Given the description of an element on the screen output the (x, y) to click on. 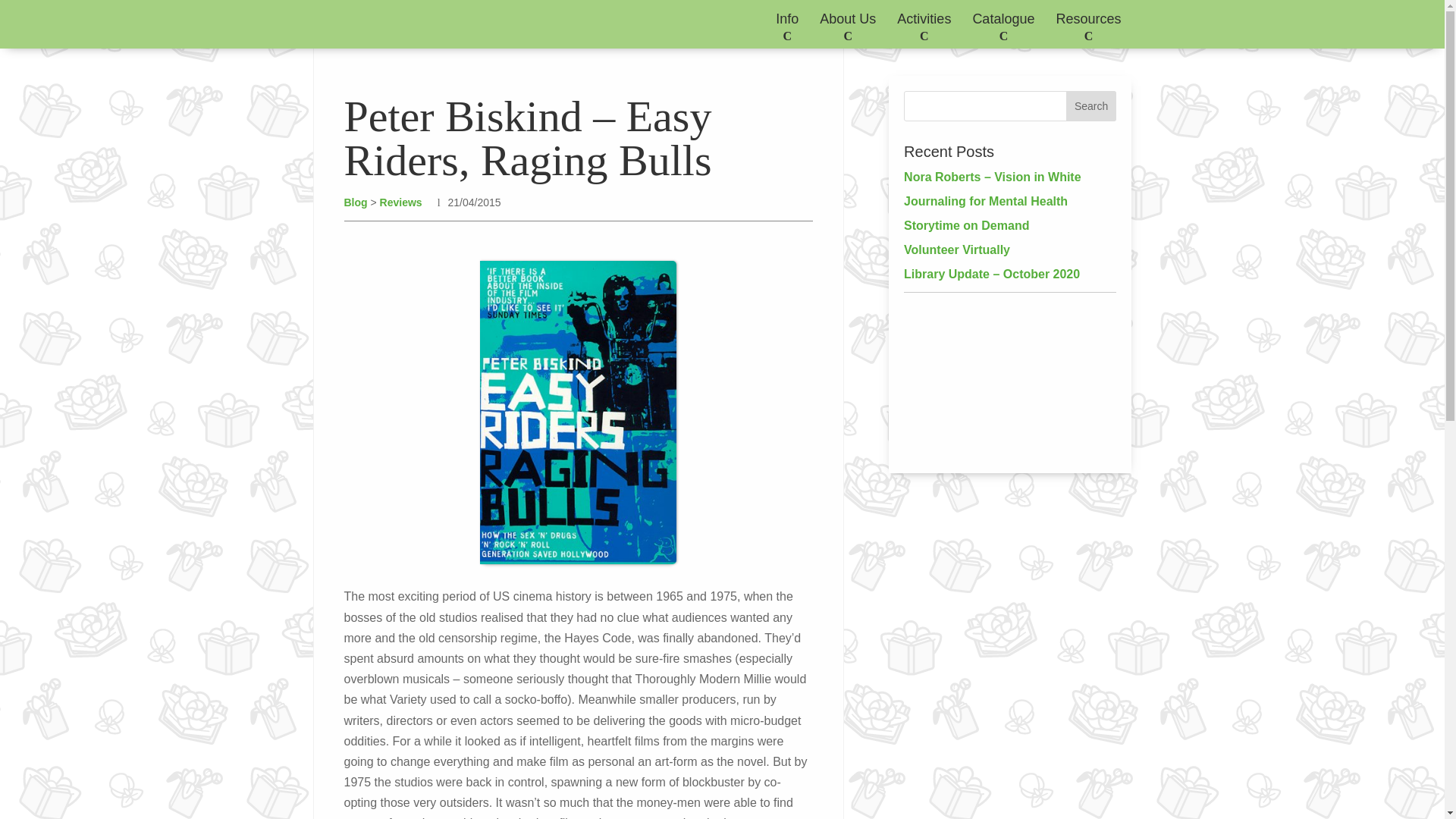
Search (1090, 105)
Volunteer Virtually (957, 249)
Catalogue (1002, 23)
Journaling for Mental Health (985, 201)
Info (787, 23)
Reviews (401, 202)
Activities (923, 23)
About Us (847, 23)
Storytime on Demand (966, 225)
Search (1090, 105)
